Given the description of an element on the screen output the (x, y) to click on. 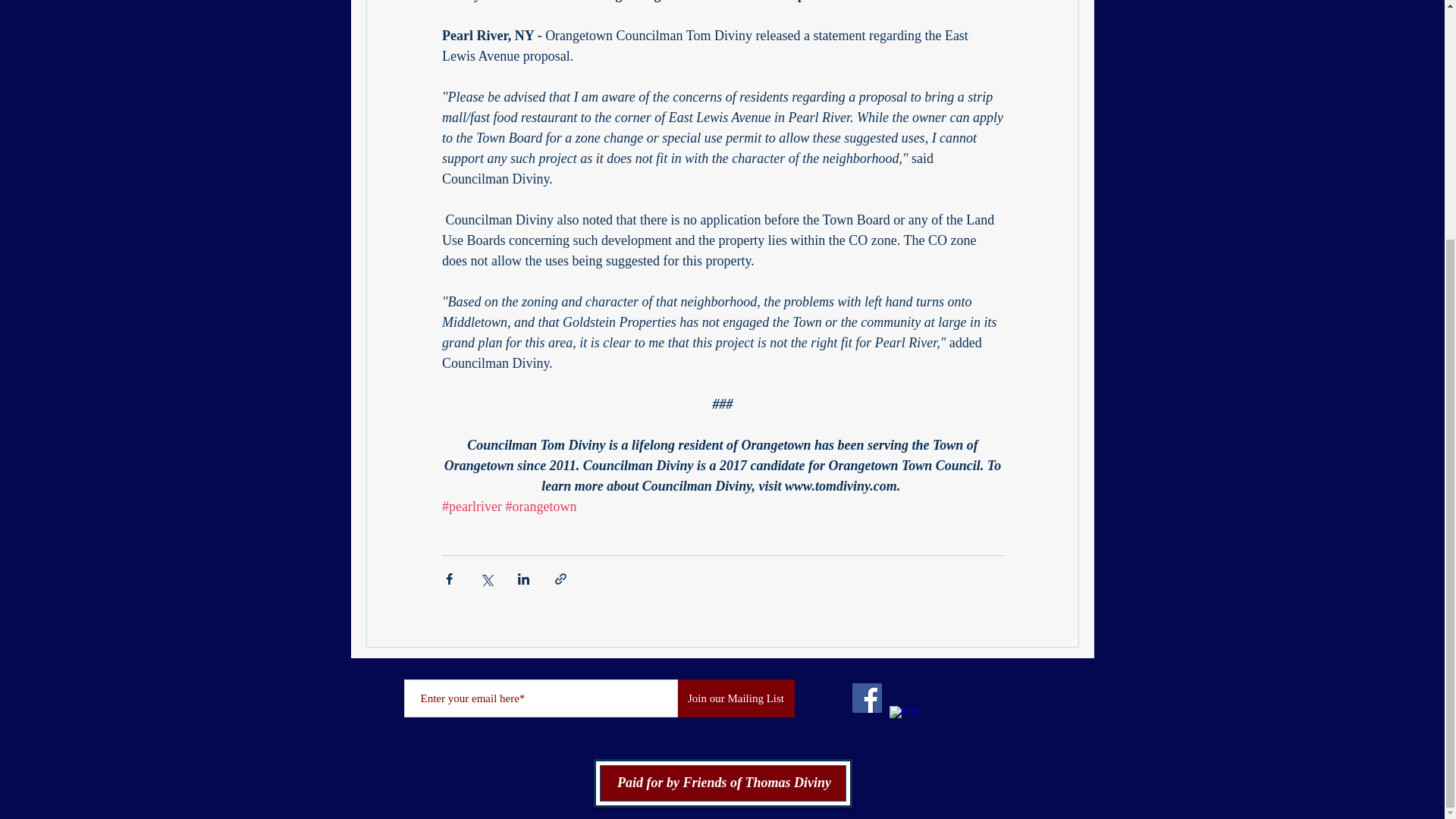
Join our Mailing List (736, 698)
